Given the description of an element on the screen output the (x, y) to click on. 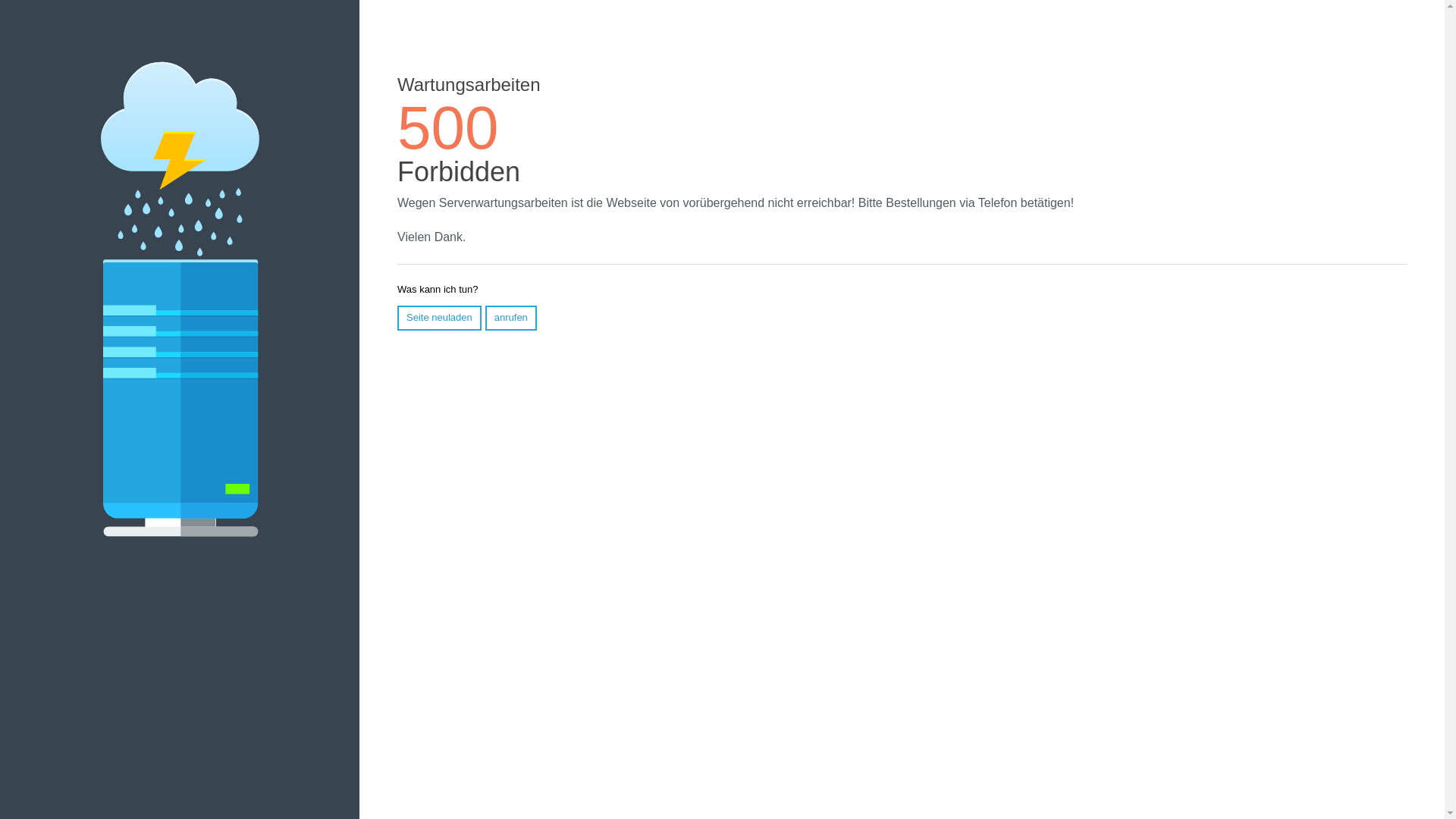
Seite neuladen Element type: text (439, 317)
anrufen Element type: text (510, 317)
